Given the description of an element on the screen output the (x, y) to click on. 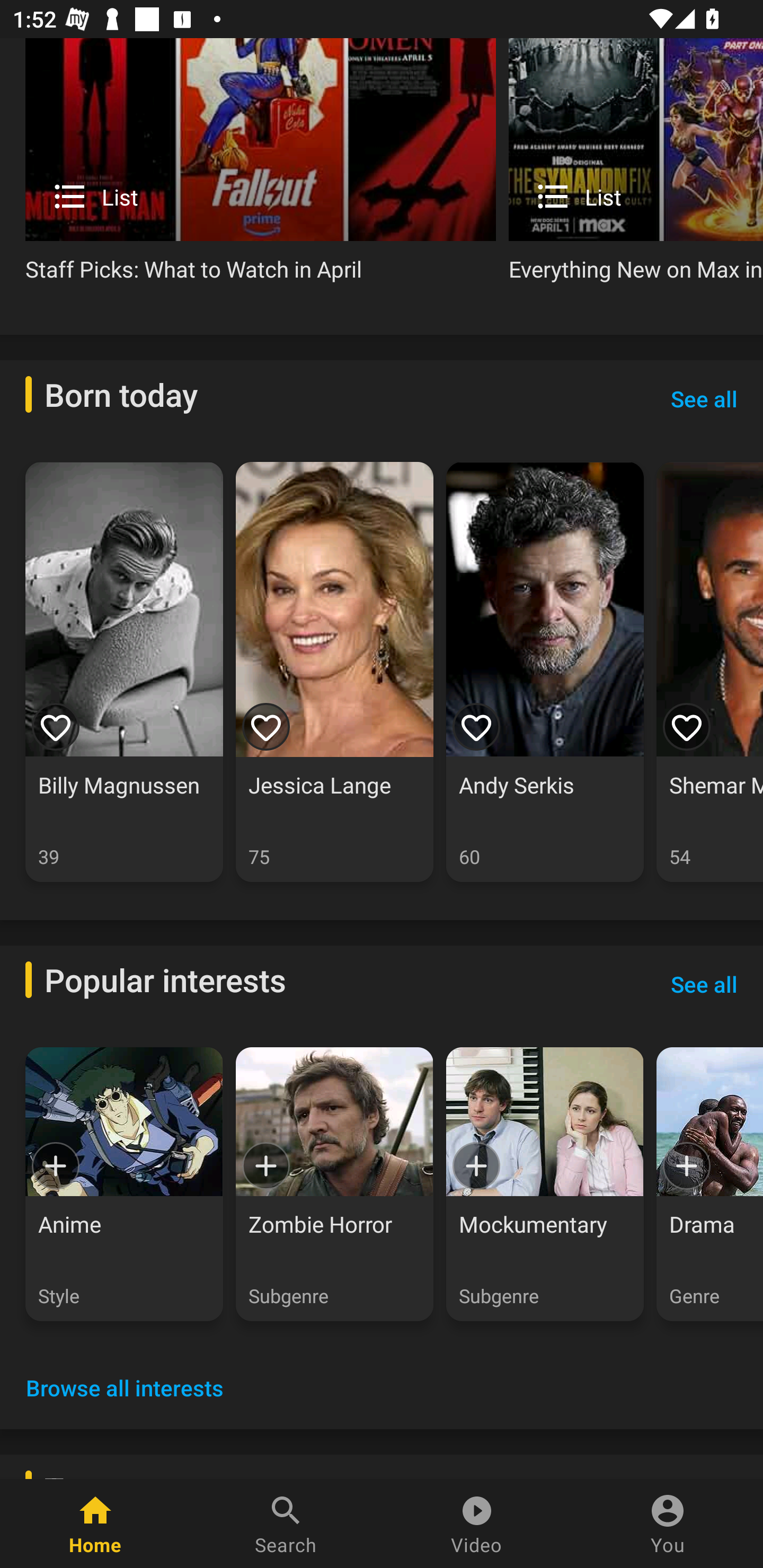
List Staff Picks: What to Watch in April (260, 166)
See all See all Born today (703, 398)
Billy Magnussen 39 (123, 671)
Jessica Lange 75 (334, 671)
Andy Serkis 60 (544, 671)
See all See all Popular interests (703, 983)
Anime Style (123, 1184)
Zombie Horror Subgenre (334, 1184)
Mockumentary Subgenre (544, 1184)
Browse all interests (124, 1387)
Search (285, 1523)
Video (476, 1523)
You (667, 1523)
